Given the description of an element on the screen output the (x, y) to click on. 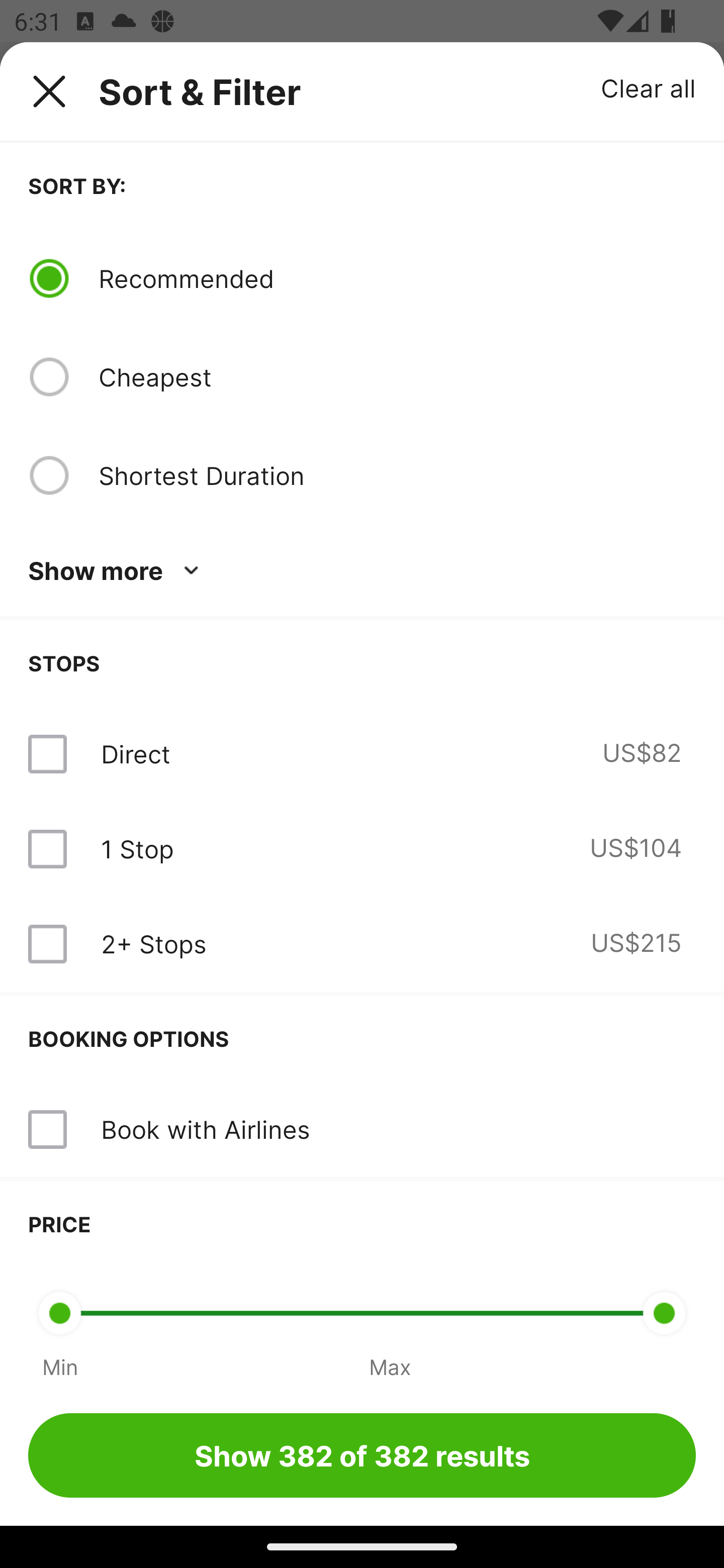
Clear all (648, 87)
Recommended  (396, 278)
Cheapest (396, 377)
Shortest Duration (396, 474)
Show more (116, 570)
Direct US$82 (362, 754)
Direct (135, 753)
1 Stop US$104 (362, 848)
1 Stop (136, 849)
2+ Stops US$215 (362, 943)
2+ Stops (153, 943)
Book with Airlines (362, 1129)
Book with Airlines (204, 1128)
Show 382 of 382 results (361, 1454)
